Given the description of an element on the screen output the (x, y) to click on. 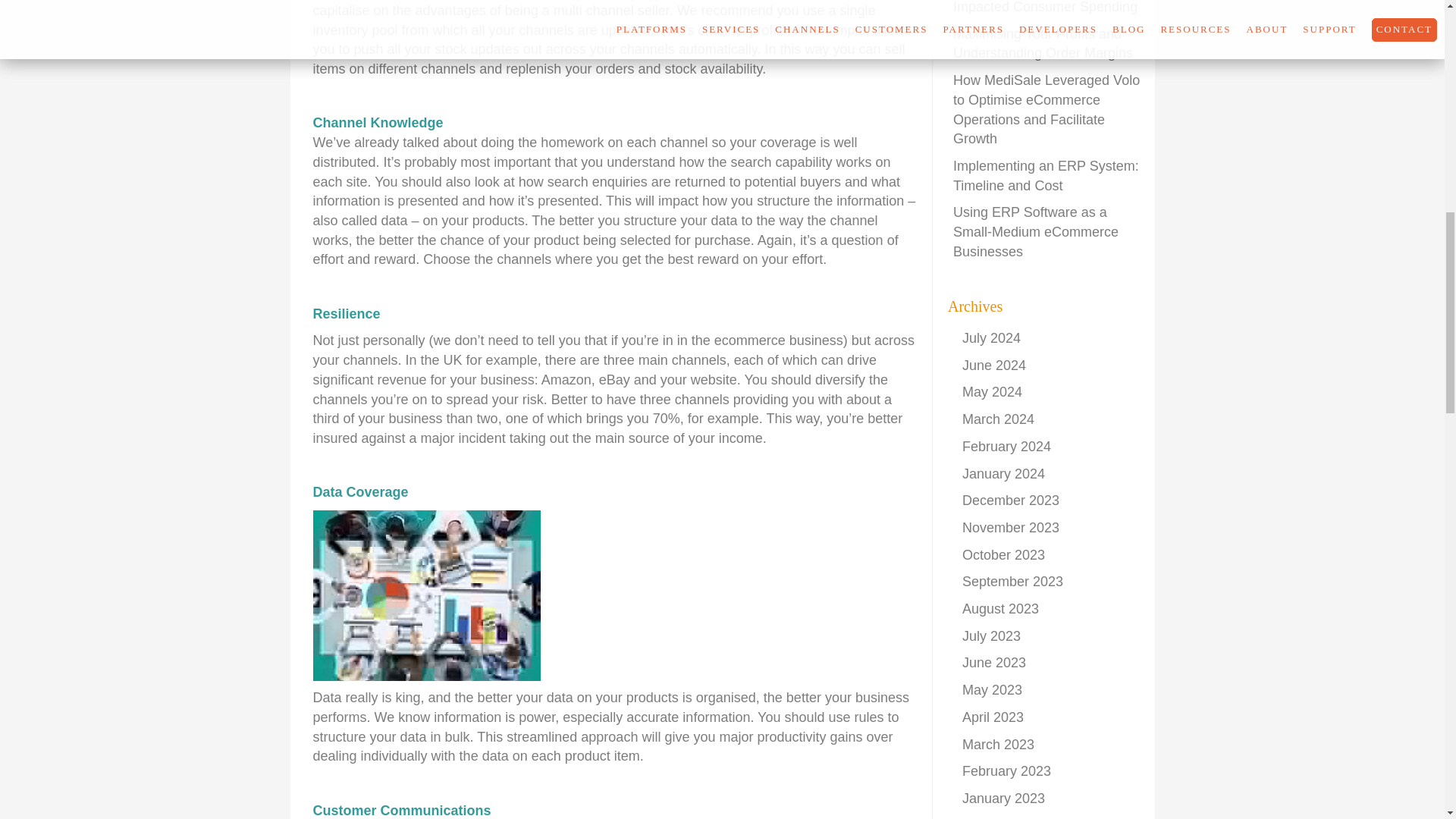
Using ERP Software as a Small-Medium eCommerce Businesses (1035, 231)
July 2024 (991, 337)
May 2024 (992, 391)
March 2024 (997, 418)
June 2024 (994, 365)
January 2024 (1003, 473)
Implementing an ERP System: Timeline and Cost (1045, 175)
February 2024 (1006, 446)
December 2023 (1010, 500)
November 2023 (1010, 527)
Maximising Your Profits and Understanding Order Margins (1042, 43)
